Given the description of an element on the screen output the (x, y) to click on. 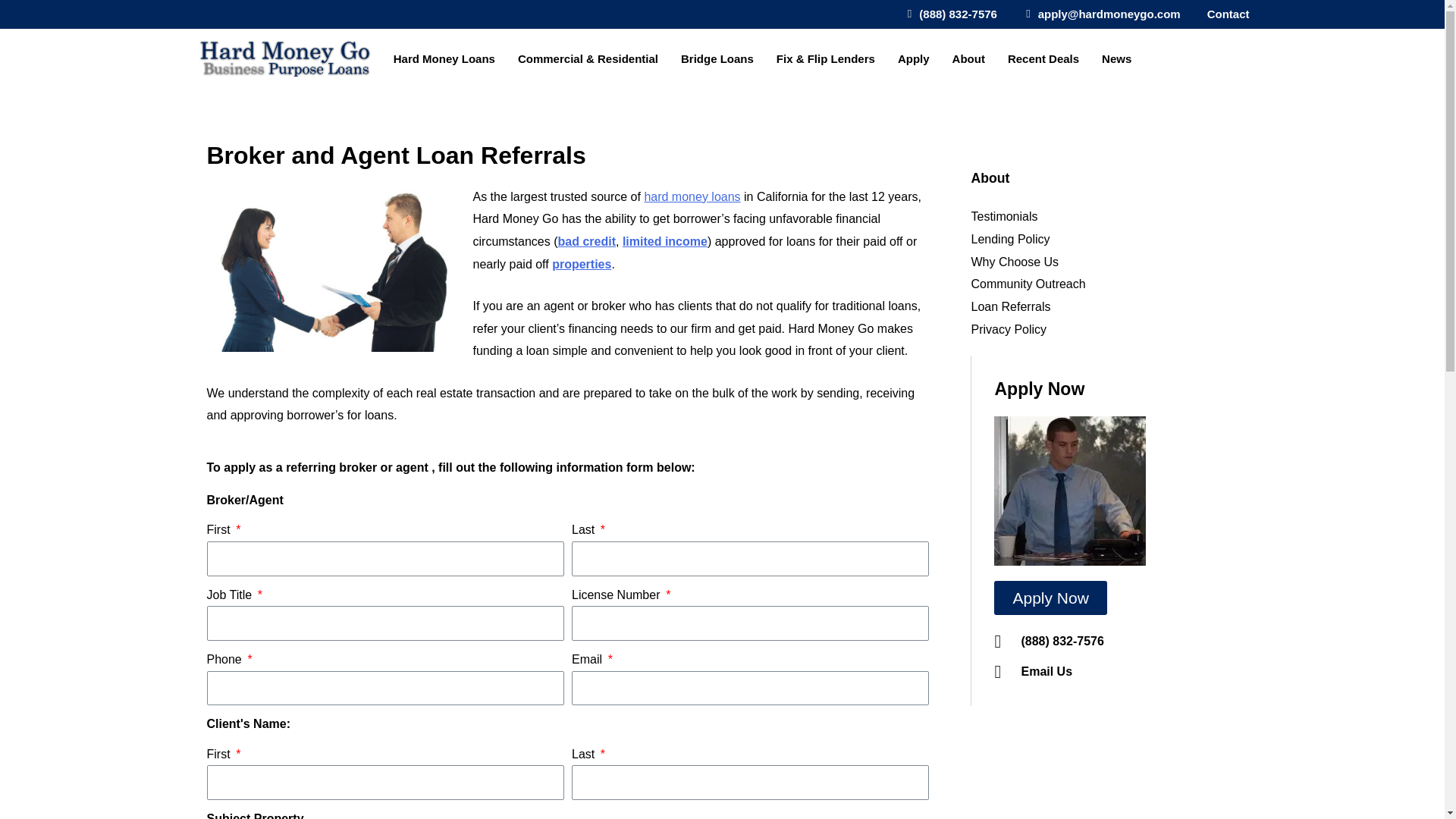
Contact (1224, 14)
Bridge Loans (720, 58)
Hard Money Loans (448, 58)
